Given the description of an element on the screen output the (x, y) to click on. 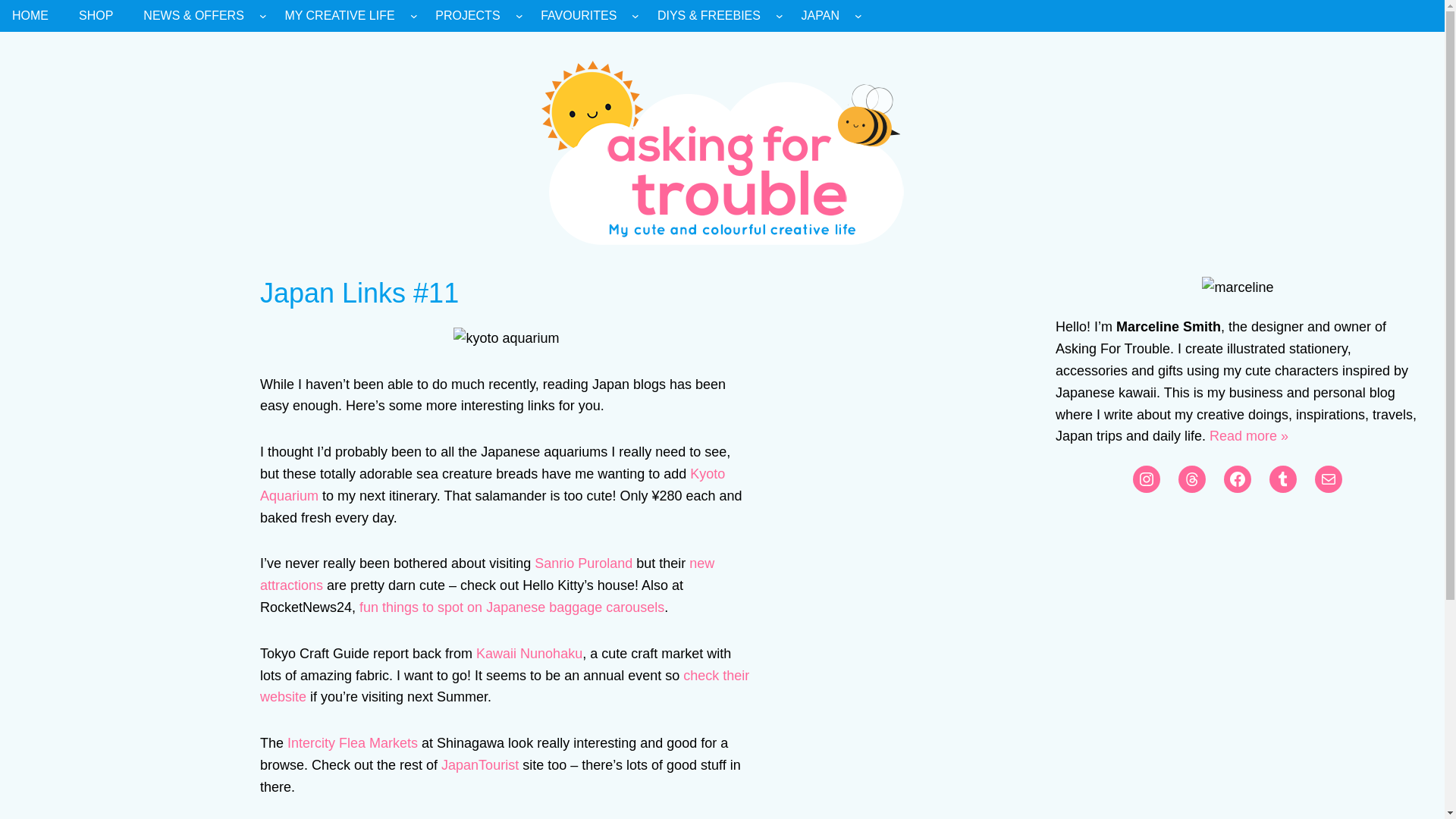
SHOP (95, 15)
FAVOURITES (578, 15)
MY CREATIVE LIFE (339, 15)
HOME (30, 15)
PROJECTS (467, 15)
